Given the description of an element on the screen output the (x, y) to click on. 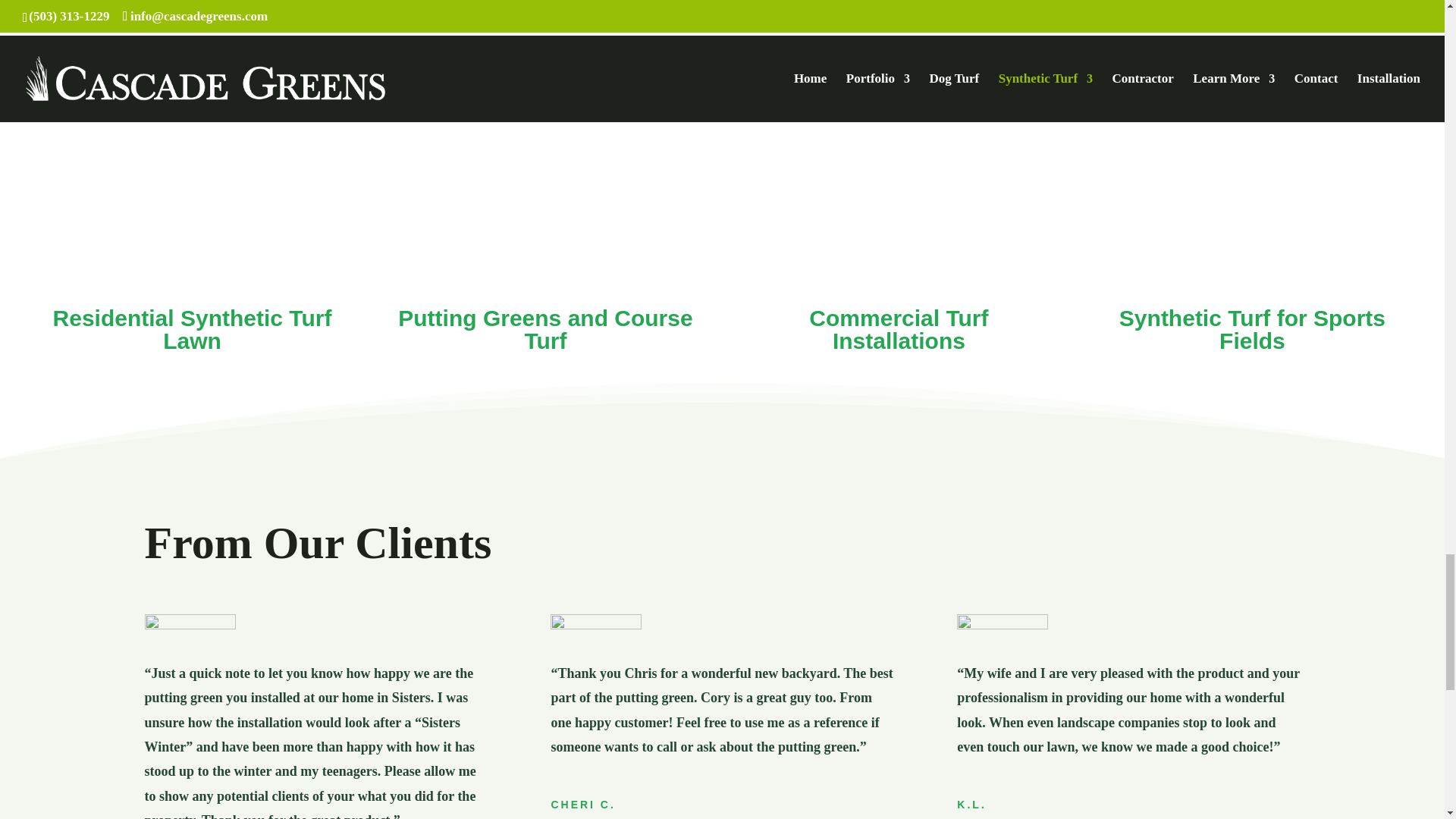
landscape-maintenance-09 (189, 621)
landscape-maintenance-09 (596, 621)
landscape-maintenance-09 (1002, 621)
